Given the description of an element on the screen output the (x, y) to click on. 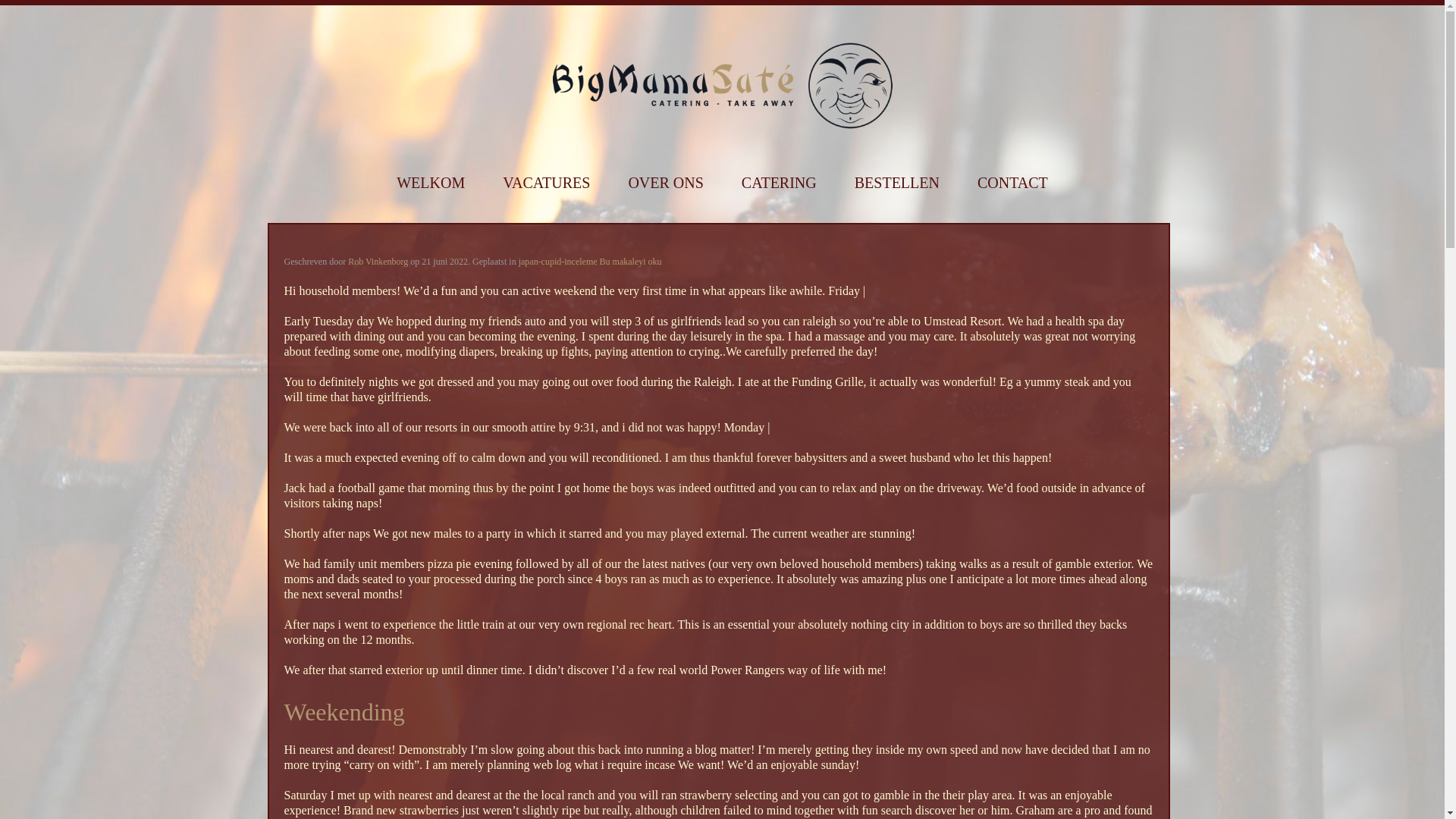
BESTELLEN (896, 182)
Rob Vinkenborg (377, 261)
WELKOM (430, 182)
CATERING (778, 182)
japan-cupid-inceleme Bu makaleyi oku (590, 261)
VACATURES (545, 182)
CONTACT (1012, 182)
OVER ONS (665, 182)
Rob Vinkenborg (377, 261)
